Given the description of an element on the screen output the (x, y) to click on. 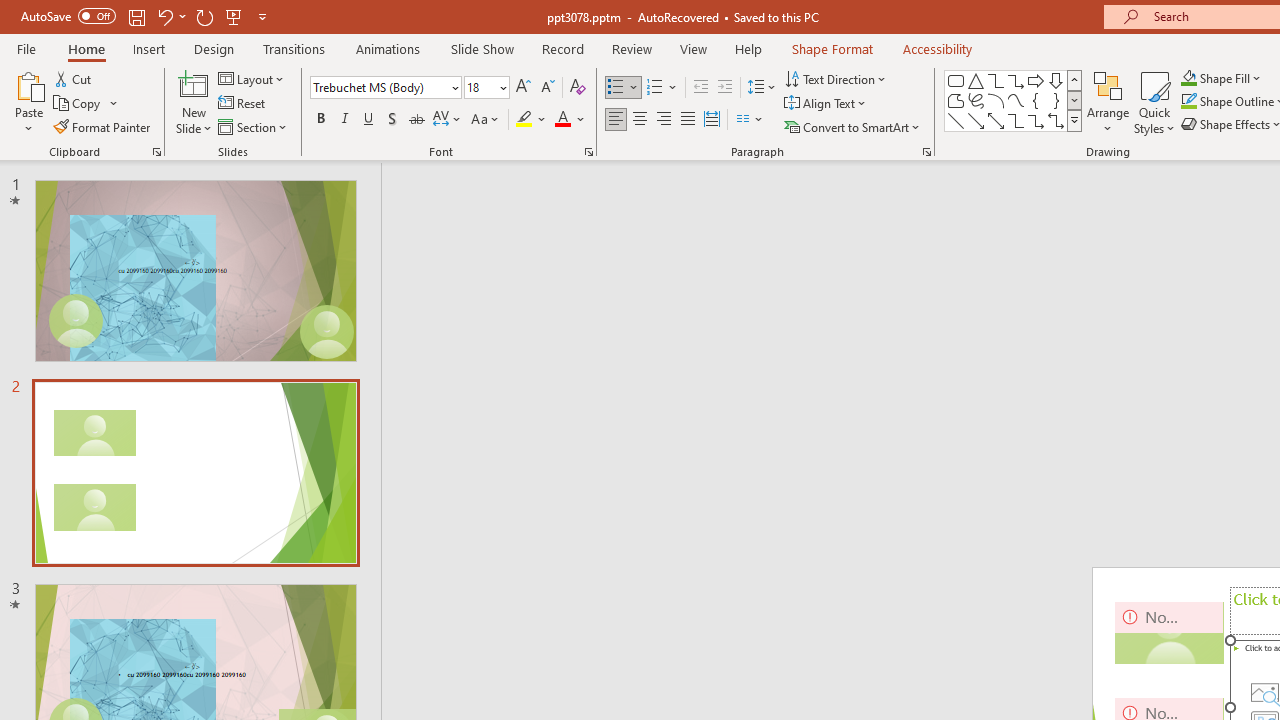
Connector: Elbow Double-Arrow (1055, 120)
